Given the description of an element on the screen output the (x, y) to click on. 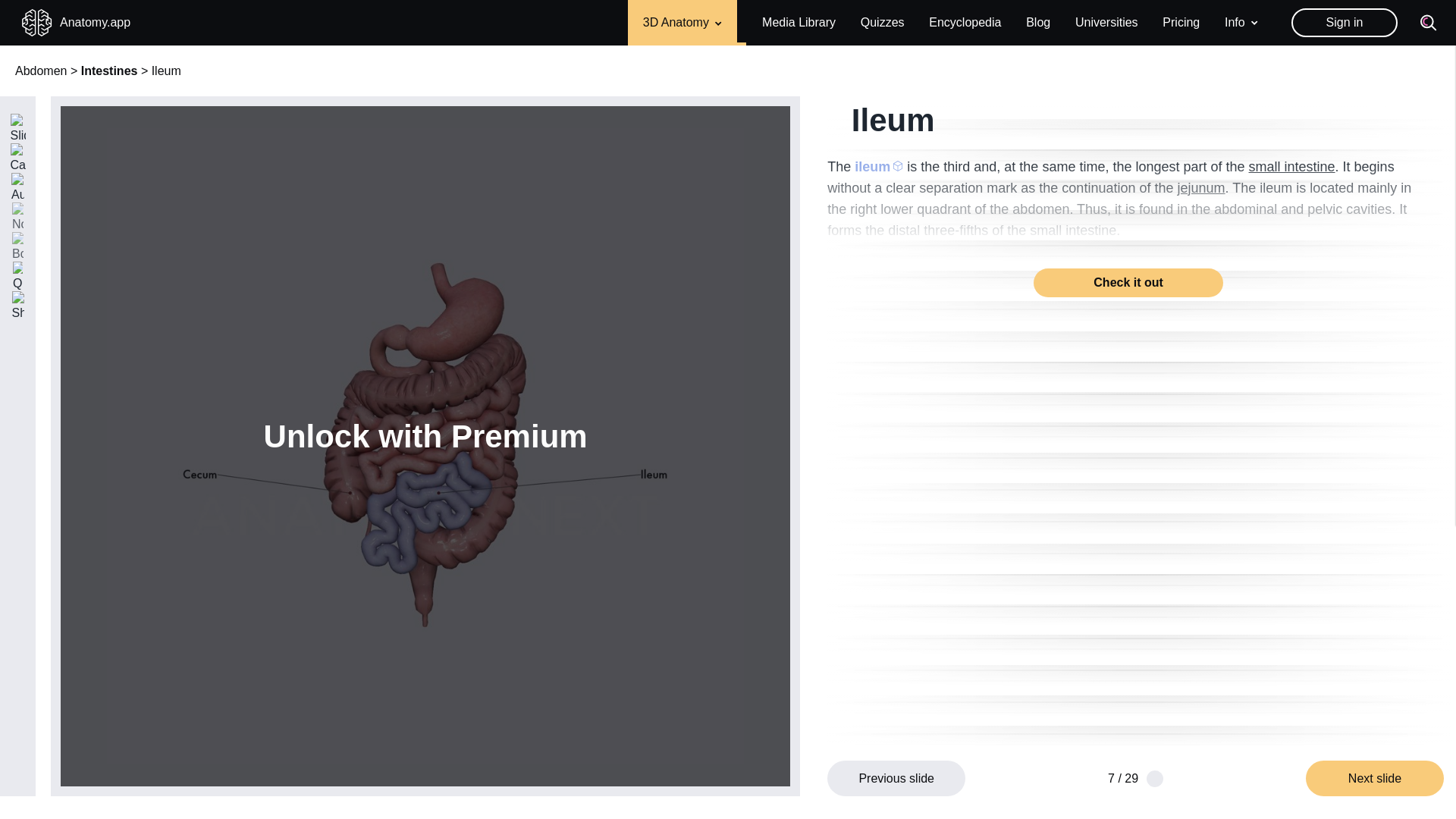
CategoriesTree (17, 158)
3D Anatomy (682, 22)
Pricing (1180, 21)
Slides (17, 129)
Audio (17, 188)
Blog (1037, 21)
Encyclopedia (964, 22)
Anatomy.app (76, 22)
Quizzes (882, 22)
